Given the description of an element on the screen output the (x, y) to click on. 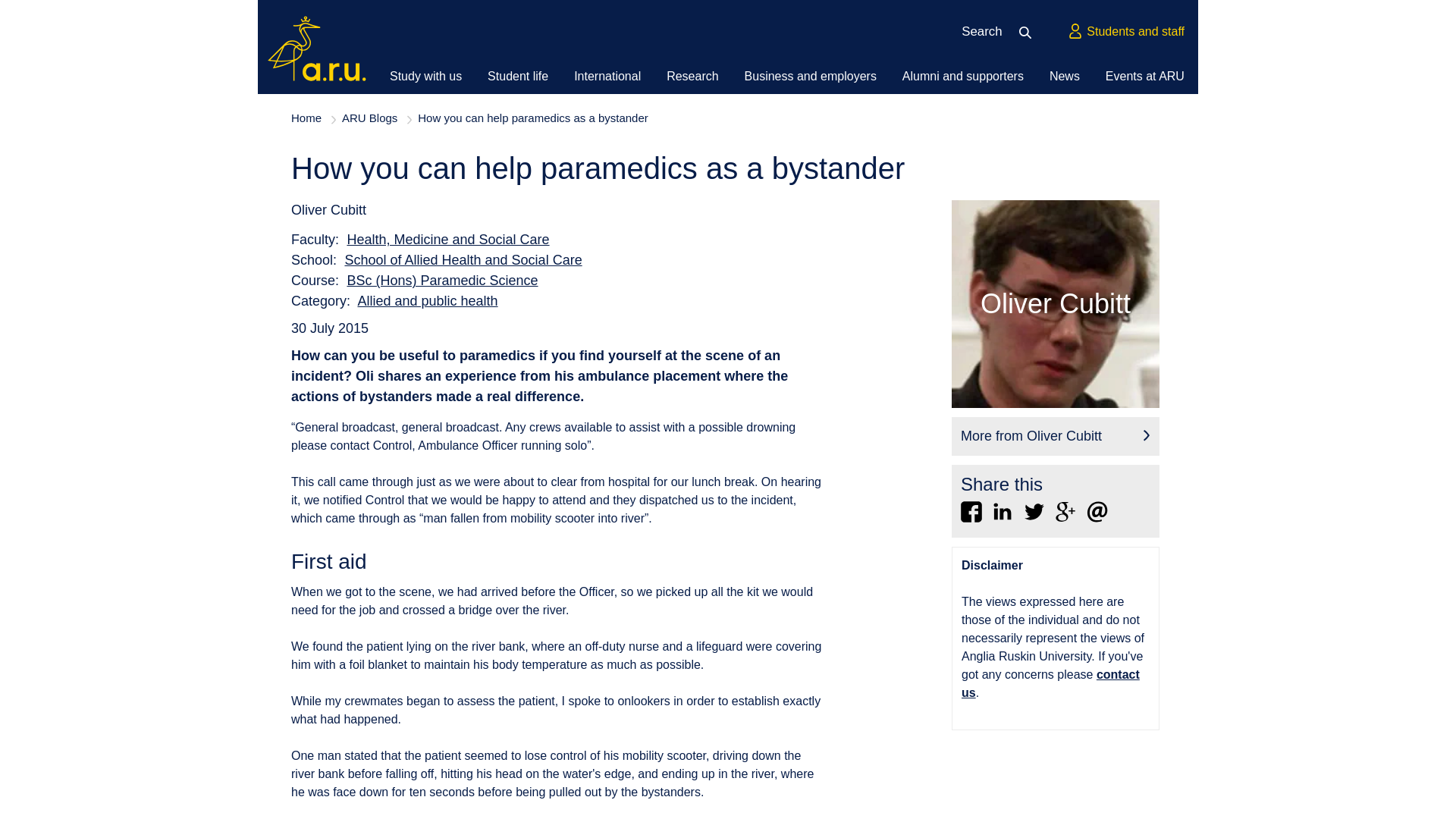
Search the Anglia Ruskin website (1029, 31)
Student life (518, 76)
Study with us (425, 76)
Students and staff (1126, 31)
